Given the description of an element on the screen output the (x, y) to click on. 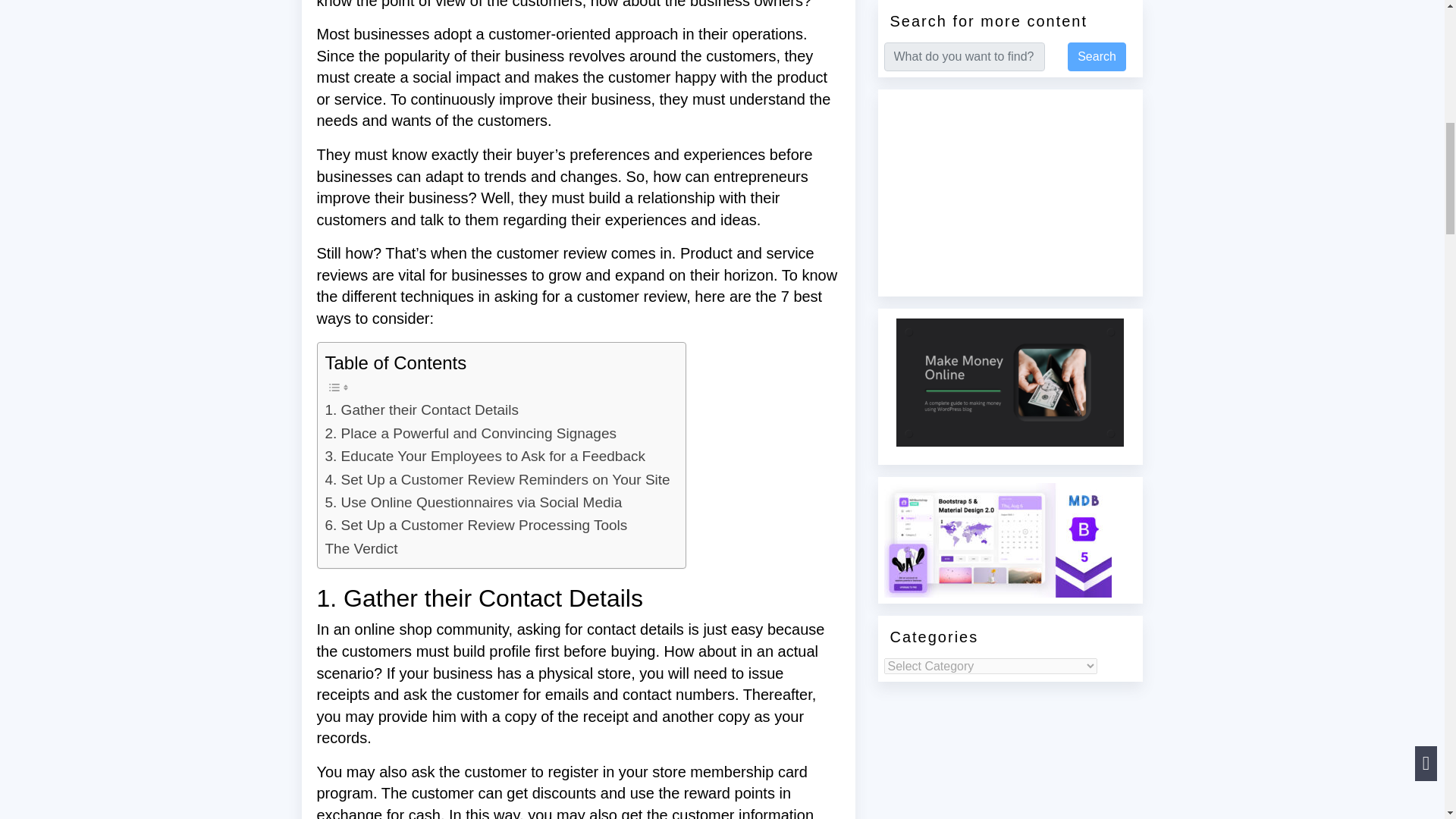
2. Place a Powerful and Convincing Signages (469, 433)
3. Educate Your Employees to Ask for a Feedback (484, 456)
6. Set Up a Customer Review Processing Tools (475, 525)
4. Set Up a Customer Review Reminders on Your Site (496, 479)
The Verdict (360, 548)
4. Set Up a Customer Review Reminders on Your Site (496, 479)
5. Use Online Questionnaires via Social Media (472, 502)
6. Set Up a Customer Review Processing Tools (475, 525)
1. Gather their Contact Details (421, 409)
2. Place a Powerful and Convincing Signages (469, 433)
5. Use Online Questionnaires via Social Media (472, 502)
The Verdict (360, 548)
3. Educate Your Employees to Ask for a Feedback (484, 456)
1. Gather their Contact Details (421, 409)
